Given the description of an element on the screen output the (x, y) to click on. 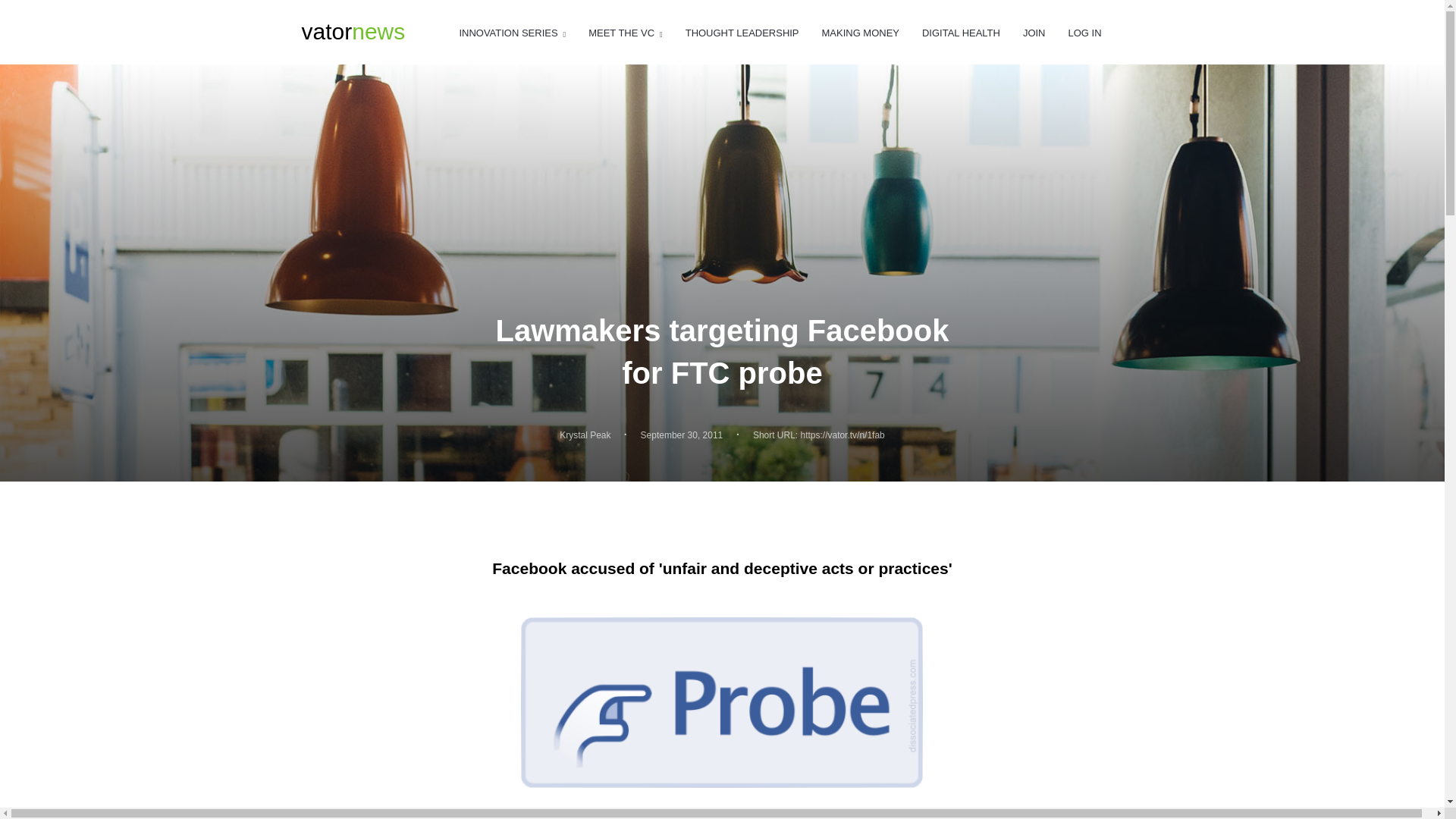
THOUGHT LEADERSHIP (353, 32)
MEET THE VC (742, 33)
INNOVATION SERIES (625, 33)
MAKING MONEY (512, 33)
DIGITAL HEALTH (860, 33)
Krystal Peak (960, 33)
LOG IN (584, 434)
